Given the description of an element on the screen output the (x, y) to click on. 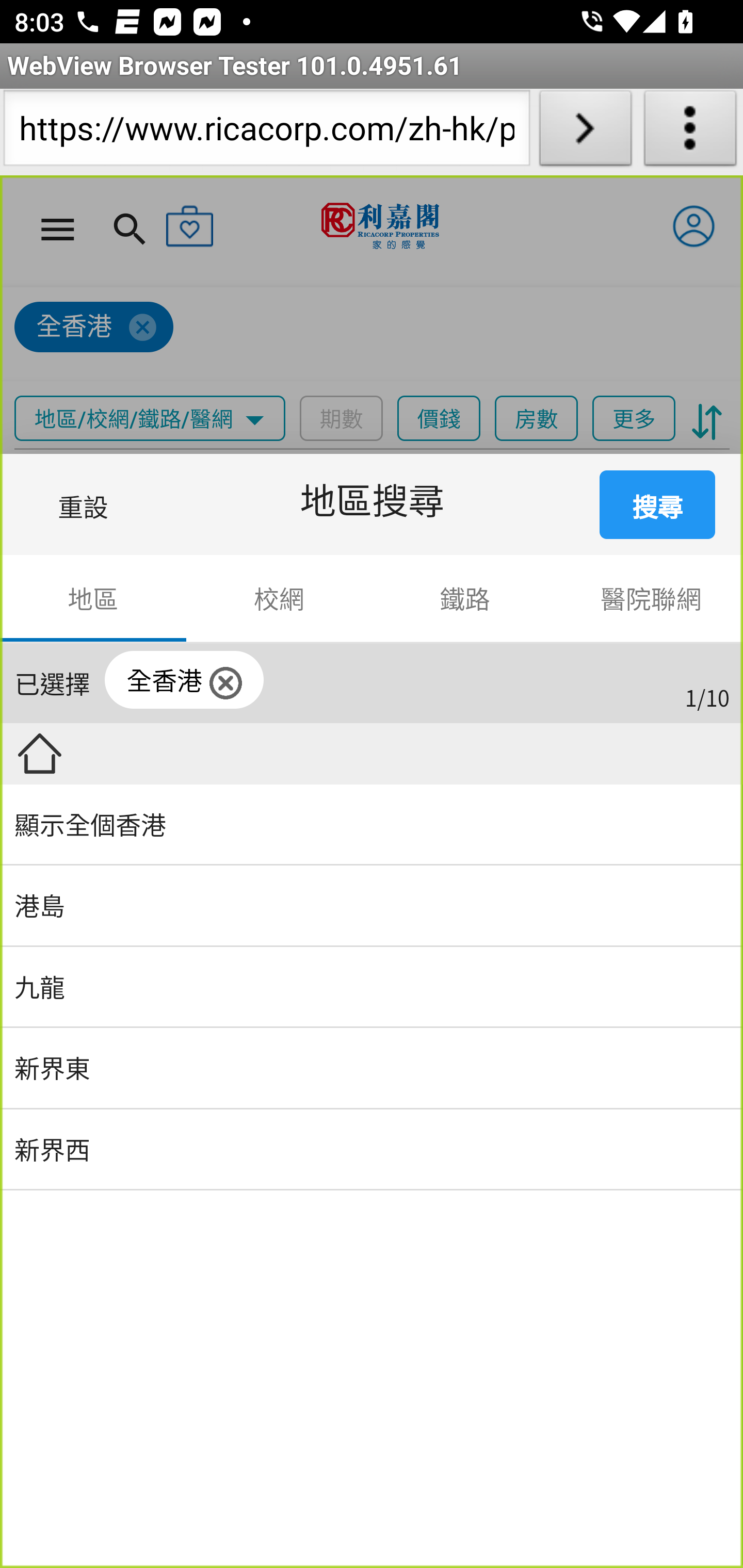
https://www.ricacorp.com/zh-hk/property/list/buy (266, 132)
Load URL (585, 132)
About WebView (690, 132)
重設 (86, 503)
搜尋 (657, 503)
地區 (93, 598)
校網 (278, 598)
鐵路 (465, 598)
醫院聯網 (649, 598)
全香港 cancel (184, 679)
home (39, 753)
顯示全個香港 (371, 825)
港島 (371, 906)
九龍 (371, 986)
新界東 (371, 1068)
新界西 (371, 1149)
